Given the description of an element on the screen output the (x, y) to click on. 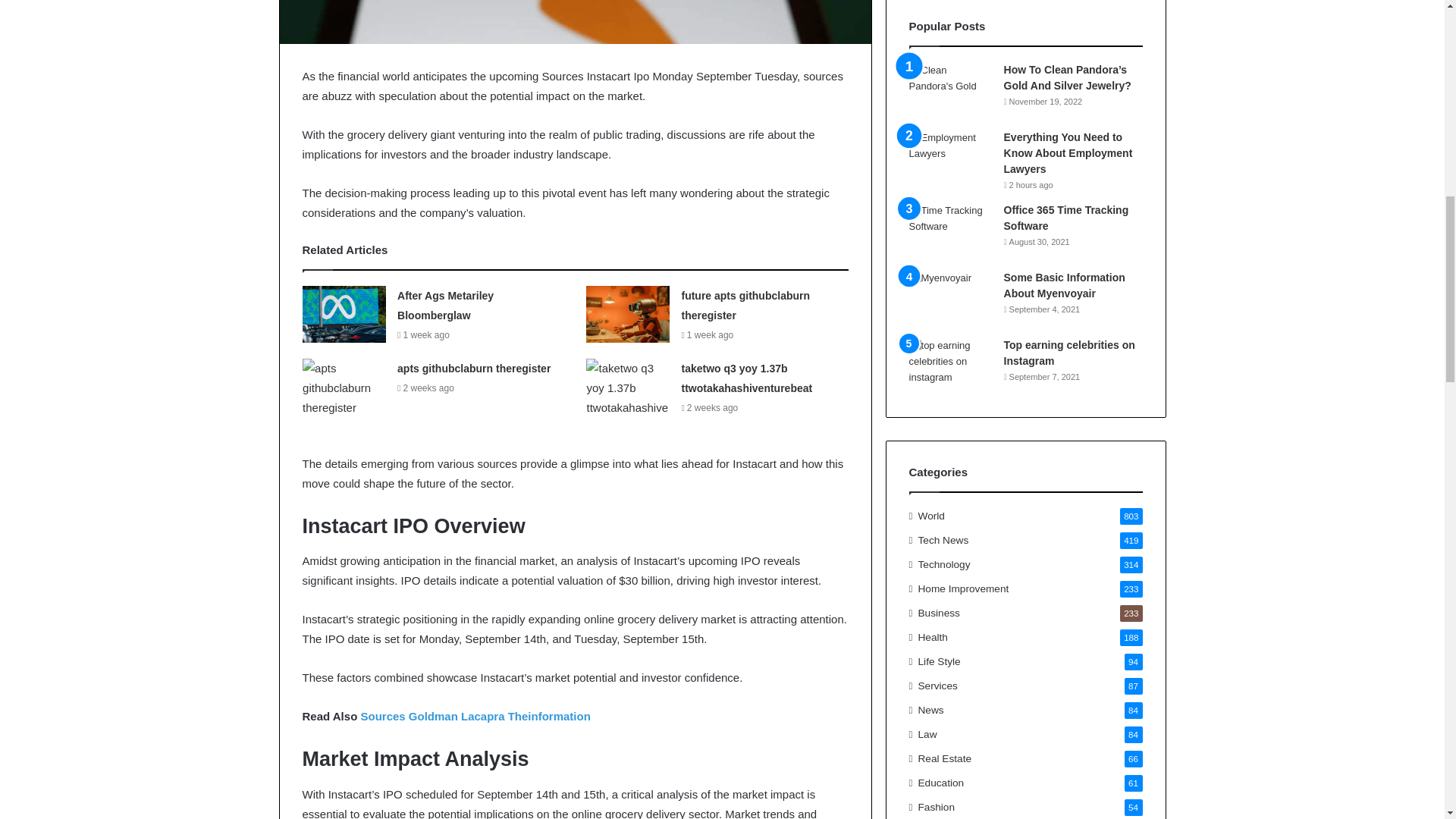
apts githubclaburn theregister (473, 368)
After Ags Metariley Bloomberglaw (445, 305)
future apts githubclaburn theregister (745, 305)
